Given the description of an element on the screen output the (x, y) to click on. 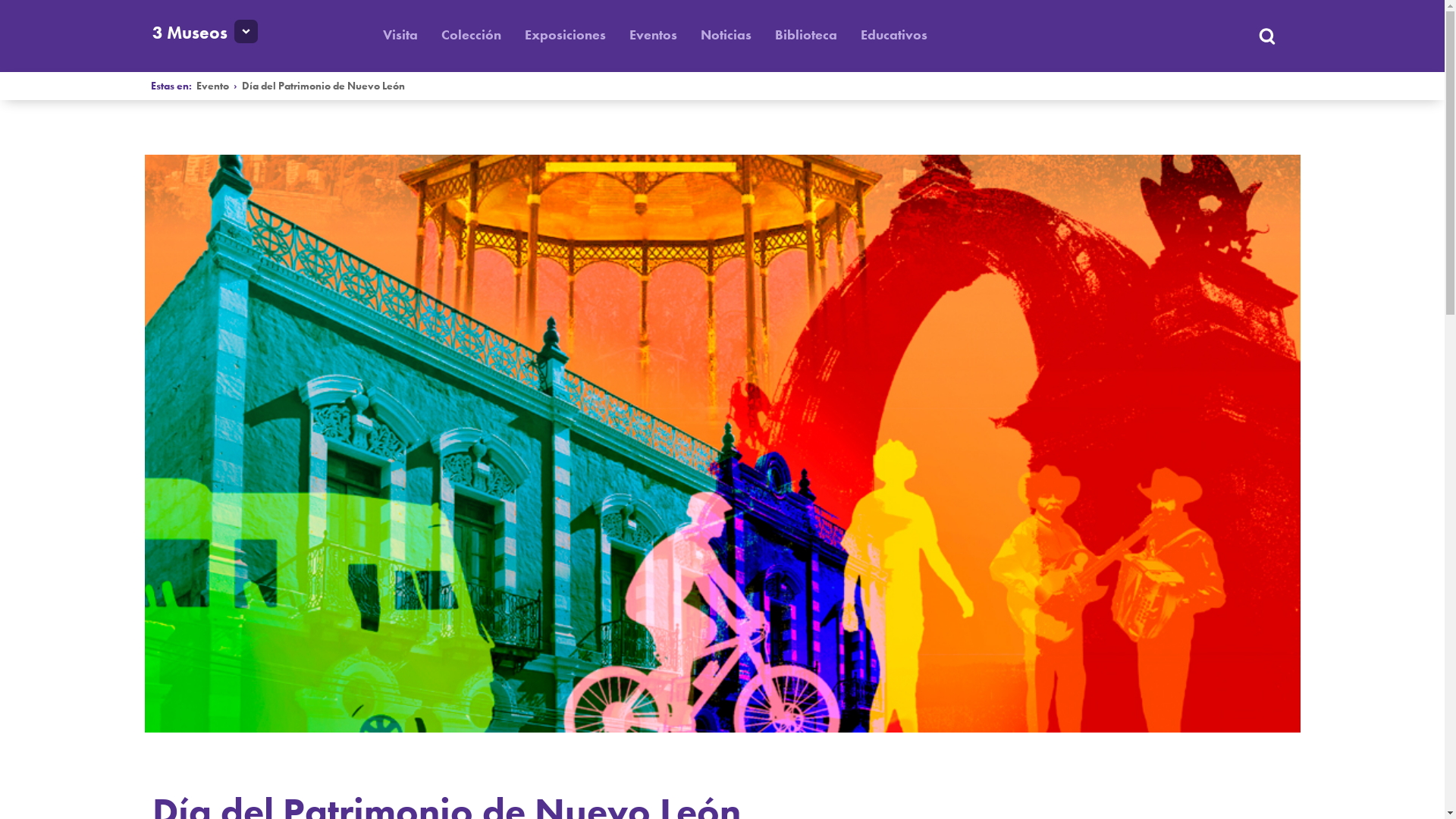
Exposiciones Element type: text (564, 34)
Biblioteca Element type: text (806, 34)
Noticias Element type: text (725, 34)
Visita Element type: text (399, 34)
Evento Element type: text (212, 85)
Eventos Element type: text (653, 34)
Educativos Element type: text (893, 34)
3 Museos Element type: text (189, 32)
